Given the description of an element on the screen output the (x, y) to click on. 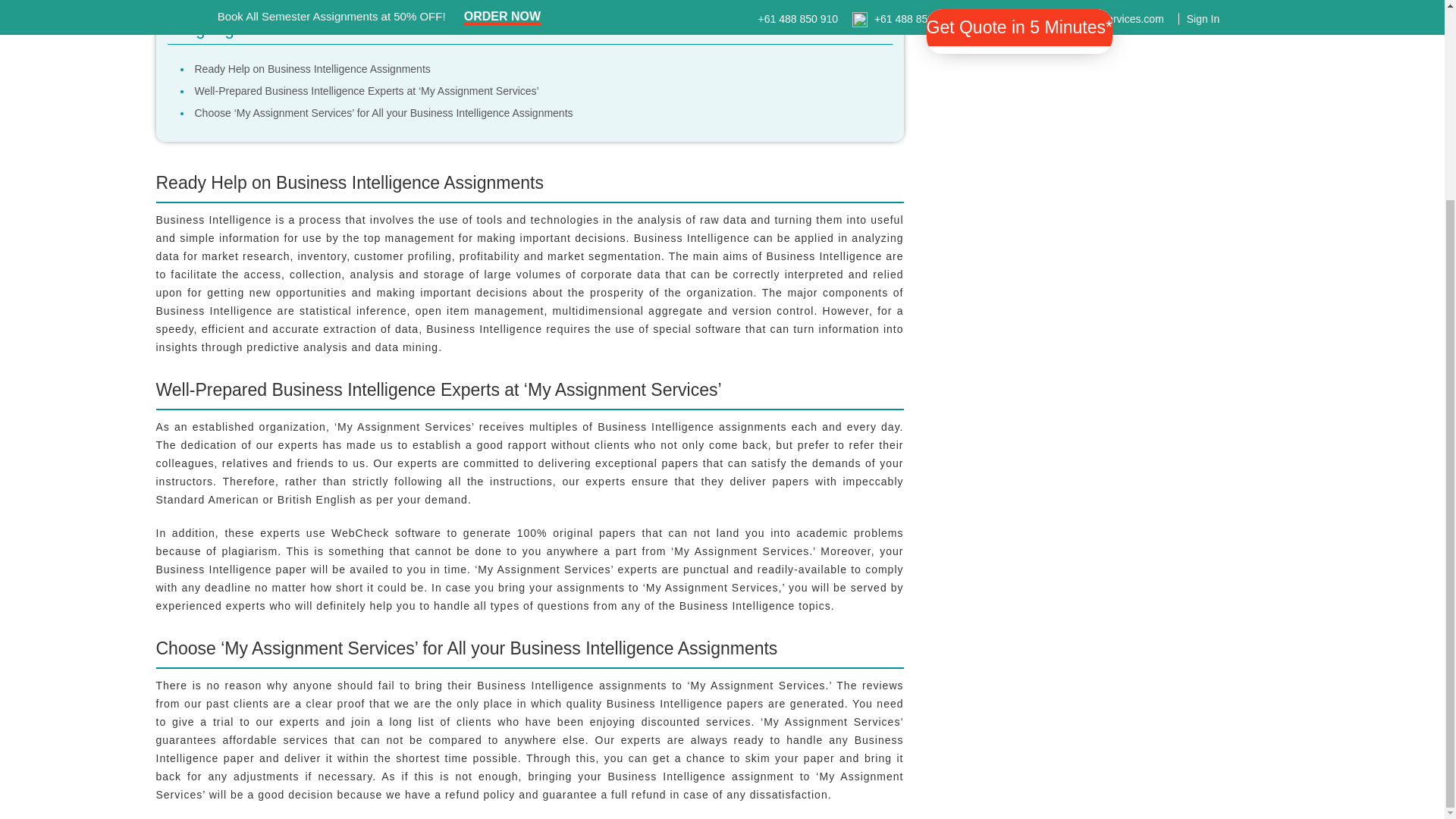
Ready Help on Business Intelligence Assignments (311, 69)
Ready Help on Business Intelligence Assignments (311, 69)
